Given the description of an element on the screen output the (x, y) to click on. 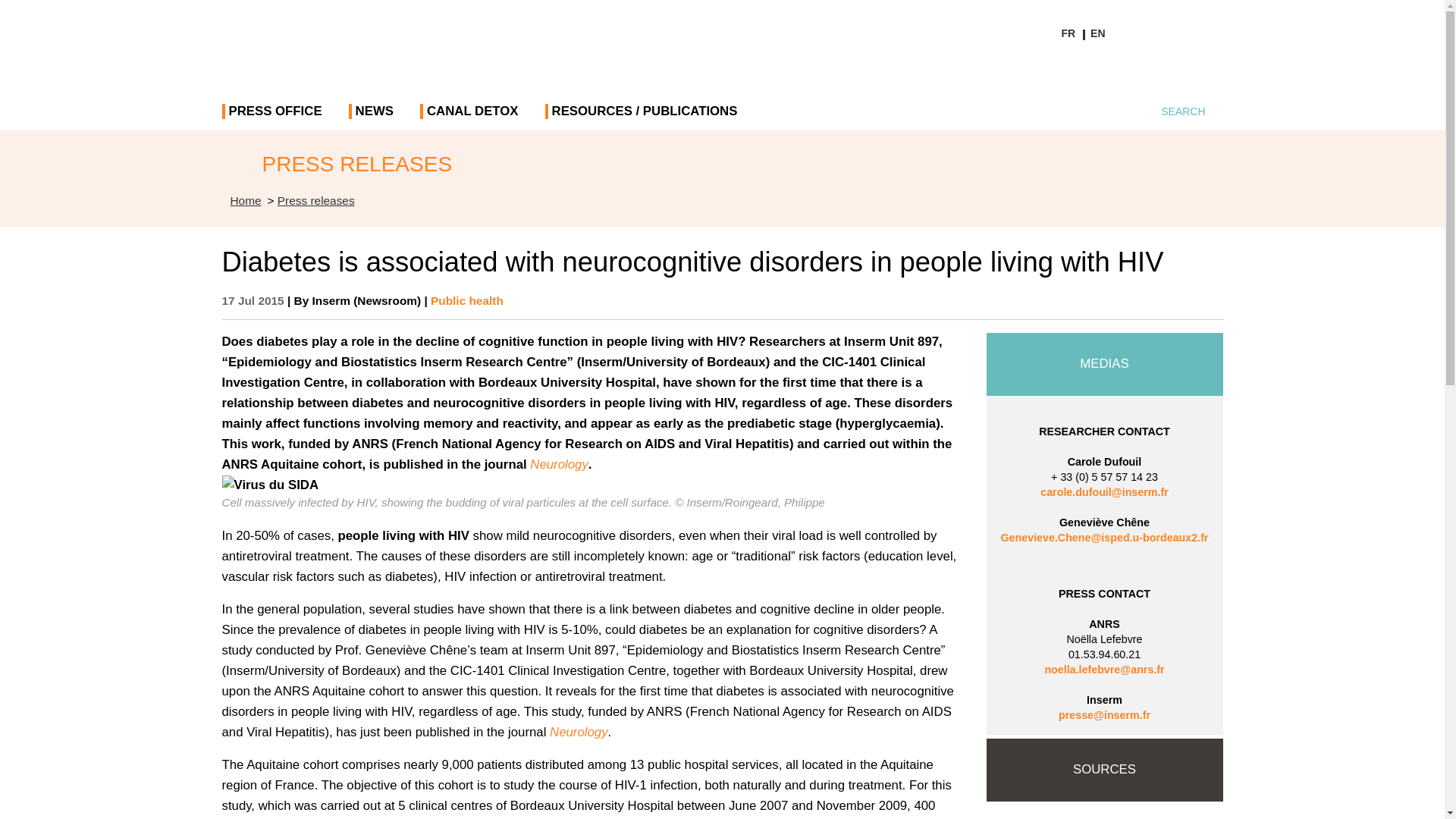
CANAL DETOX (472, 116)
Neurology (558, 464)
Accueil - inserm (246, 200)
SEARCH (1170, 113)
Twitter (1123, 71)
Public health (466, 300)
Home (246, 200)
Neurology (579, 731)
FR (1067, 33)
PRESS OFFICE (274, 116)
